Given the description of an element on the screen output the (x, y) to click on. 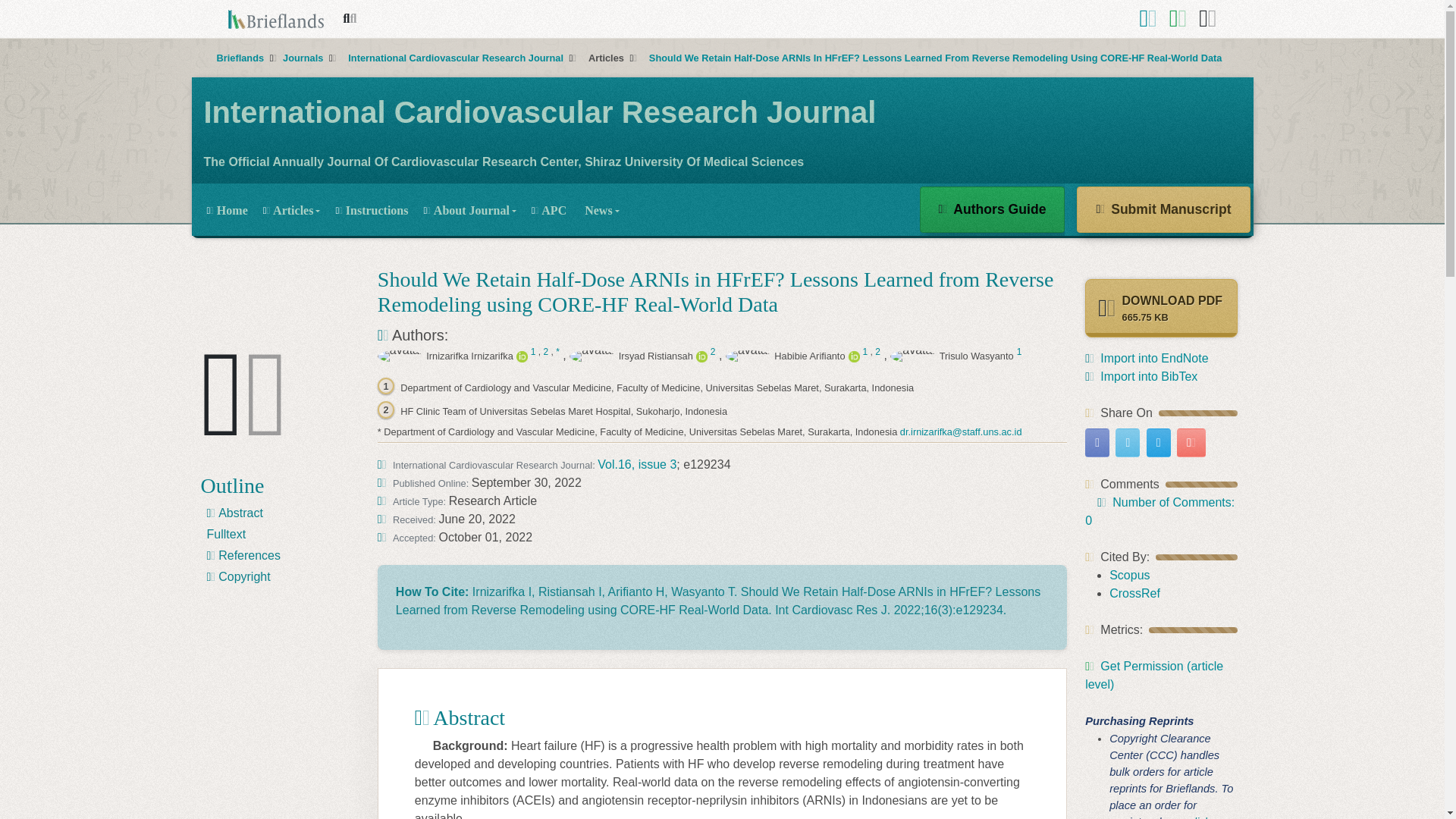
ORCID (701, 356)
Articles (291, 209)
avatar (748, 356)
News (599, 209)
Journals (304, 57)
ORCID (521, 356)
Authors Guide (992, 208)
About Journal (468, 209)
Brieflands (241, 57)
